Given the description of an element on the screen output the (x, y) to click on. 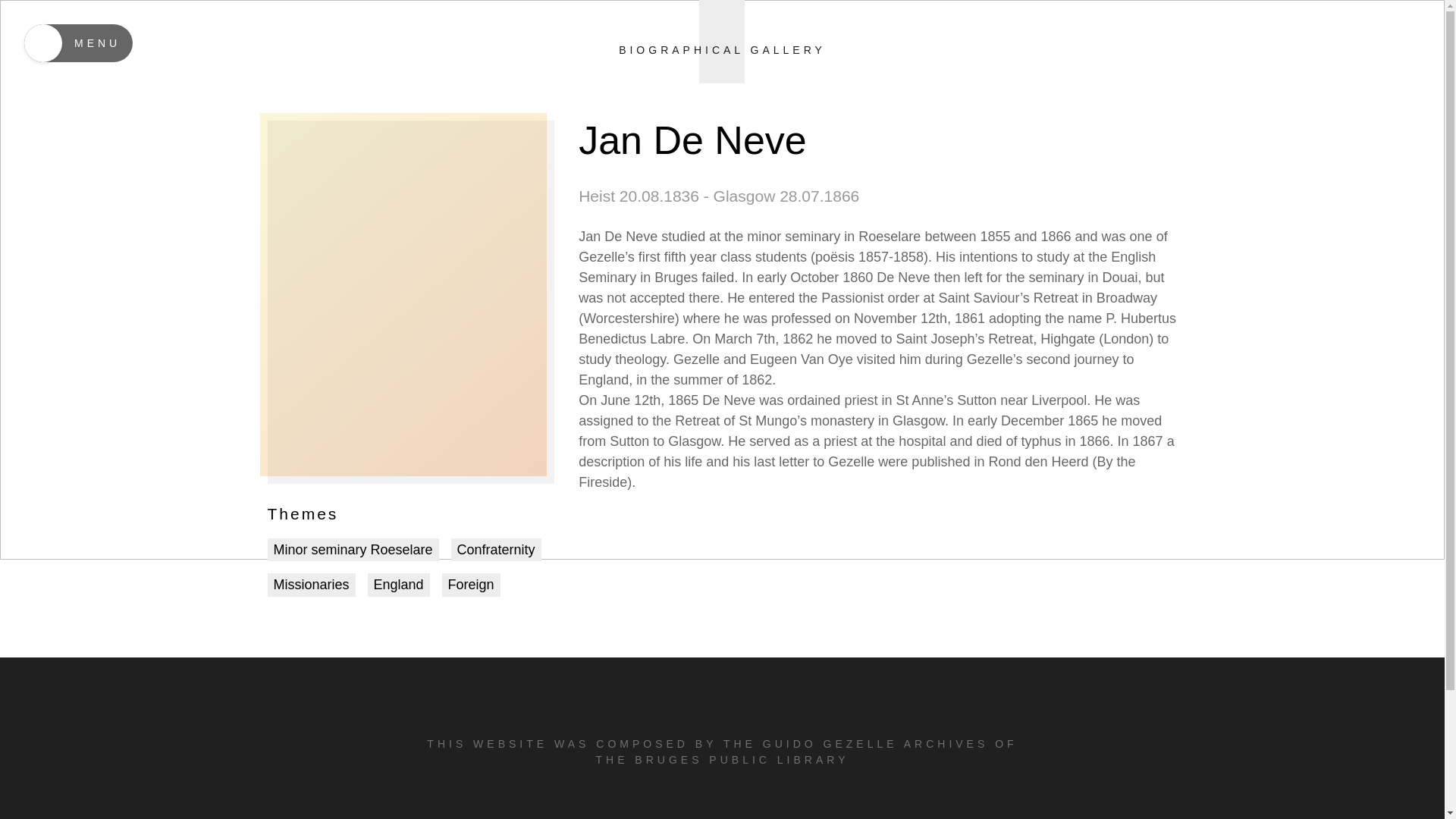
BIOGRAPHICAL GALLERY (721, 29)
Confraternity (496, 549)
Minor seminary Roeselare (352, 549)
England (398, 585)
Foreign (471, 585)
Missionaries (310, 585)
MENU (78, 43)
